Given the description of an element on the screen output the (x, y) to click on. 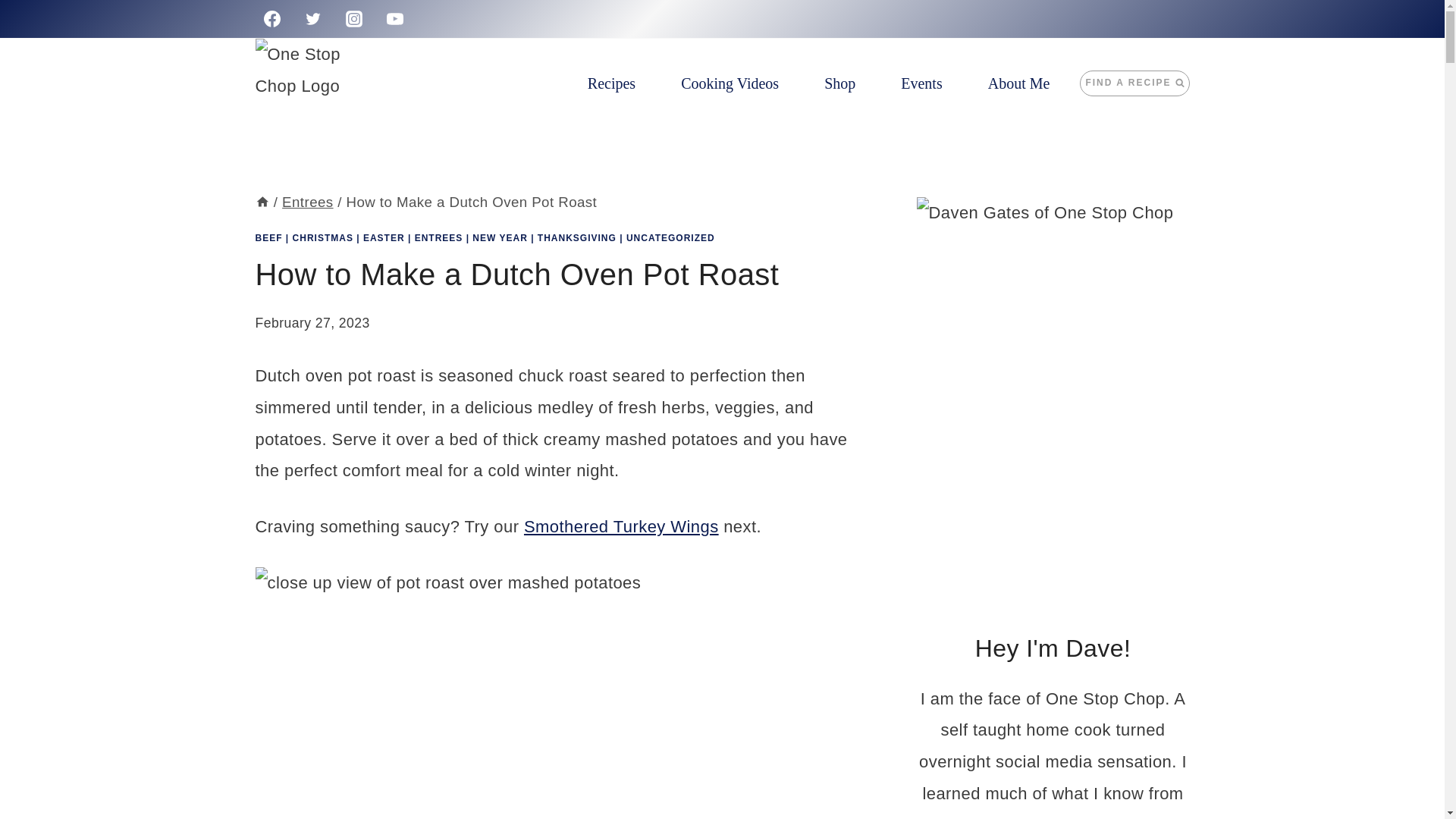
Events (920, 83)
NEW YEAR (499, 237)
Recipes (611, 83)
ENTREES (438, 237)
Shop (839, 83)
THANKSGIVING (576, 237)
BEEF (268, 237)
Entrees (307, 201)
Home (261, 201)
